Given the description of an element on the screen output the (x, y) to click on. 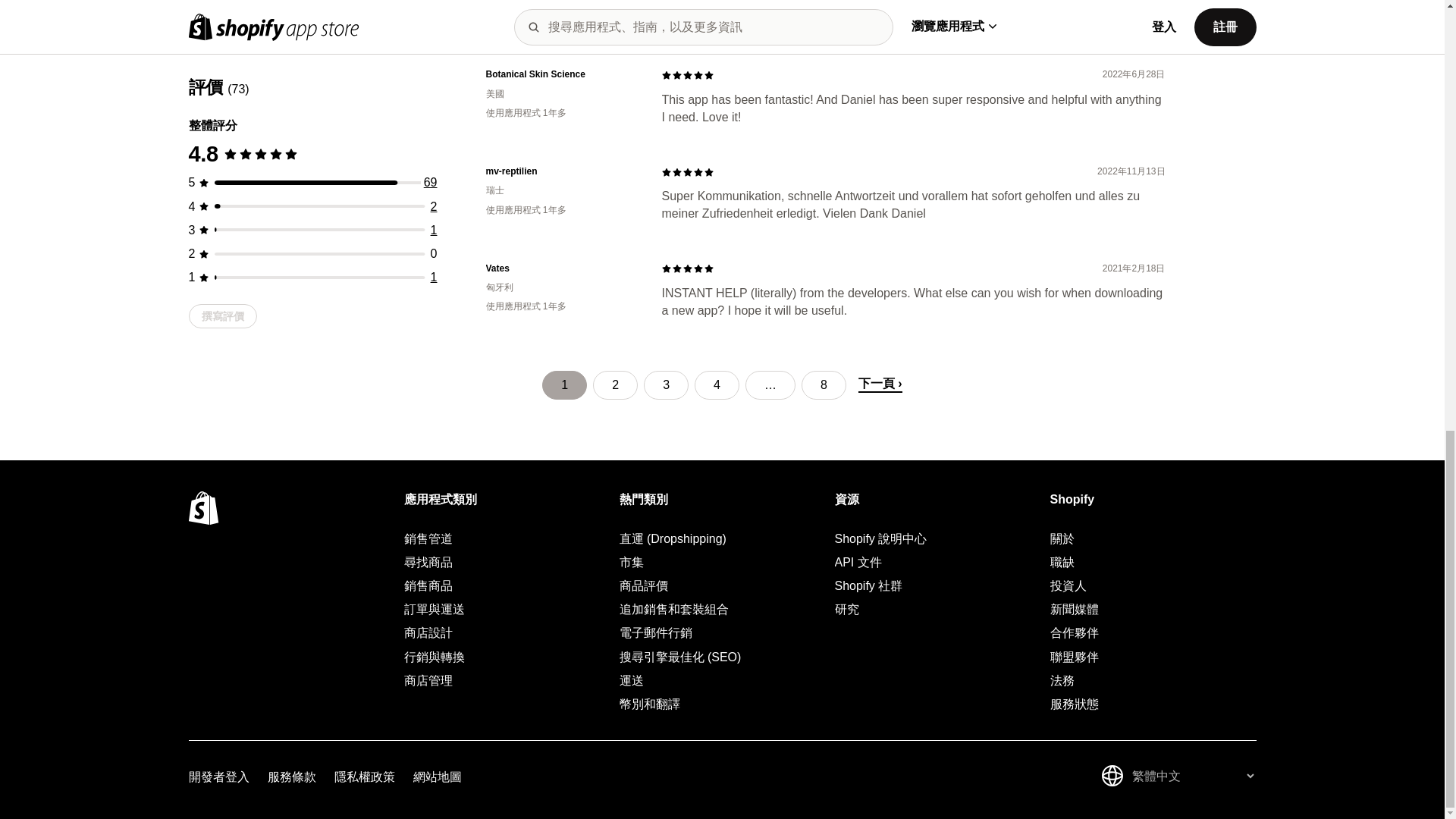
mv-reptilien (560, 171)
Botanical Skin Science (560, 74)
Vates (560, 268)
